Given the description of an element on the screen output the (x, y) to click on. 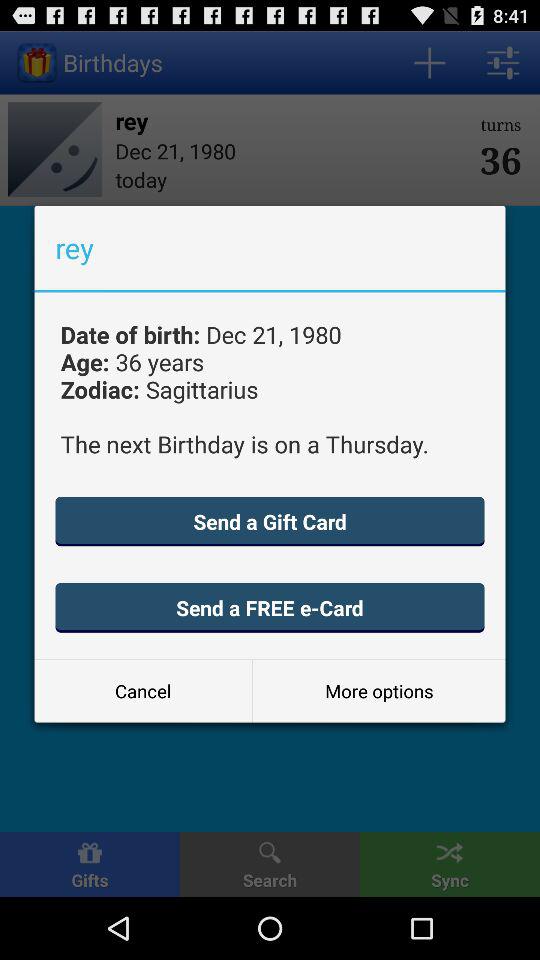
scroll to more options icon (378, 690)
